Given the description of an element on the screen output the (x, y) to click on. 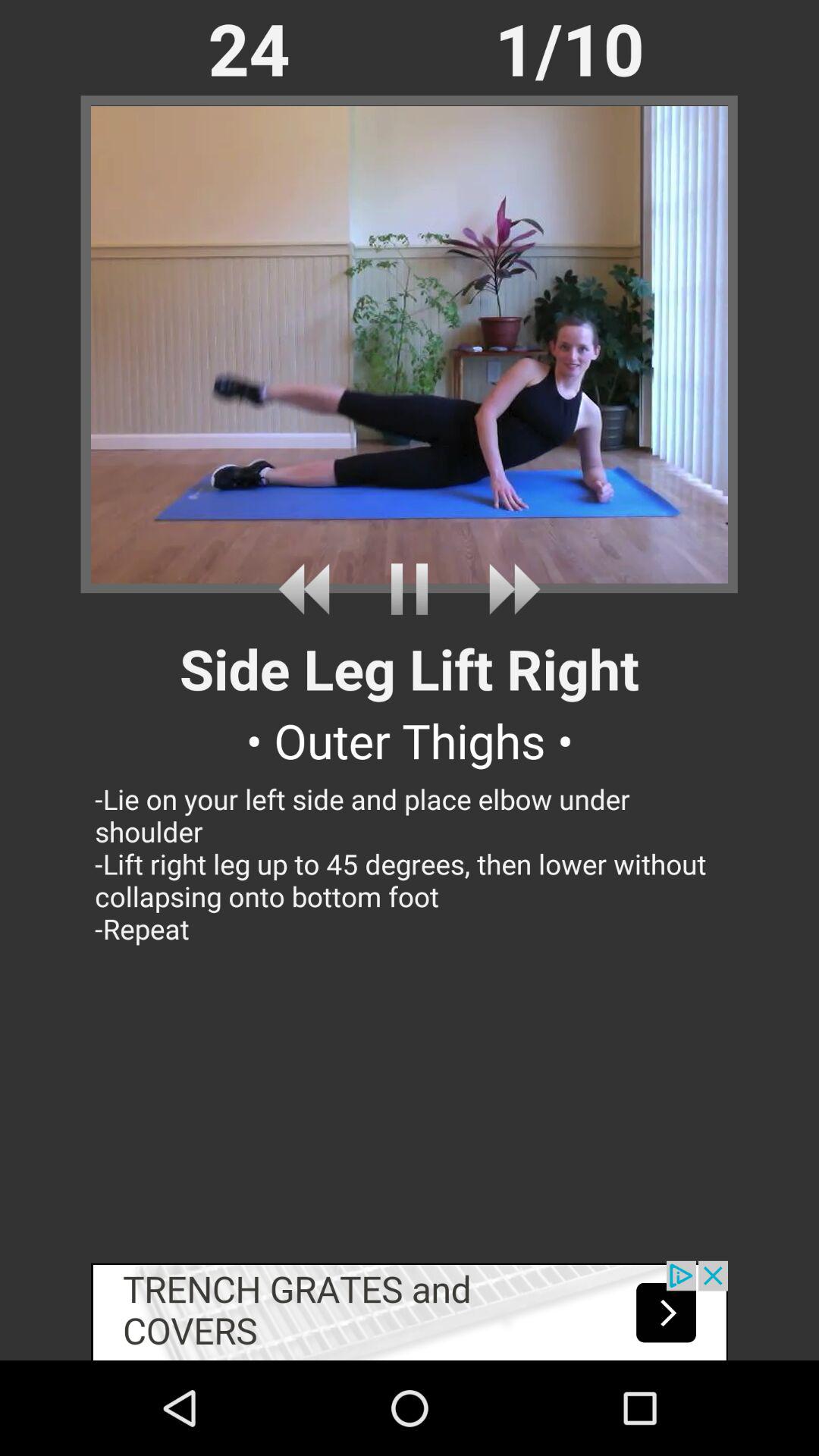
pause (409, 589)
